Given the description of an element on the screen output the (x, y) to click on. 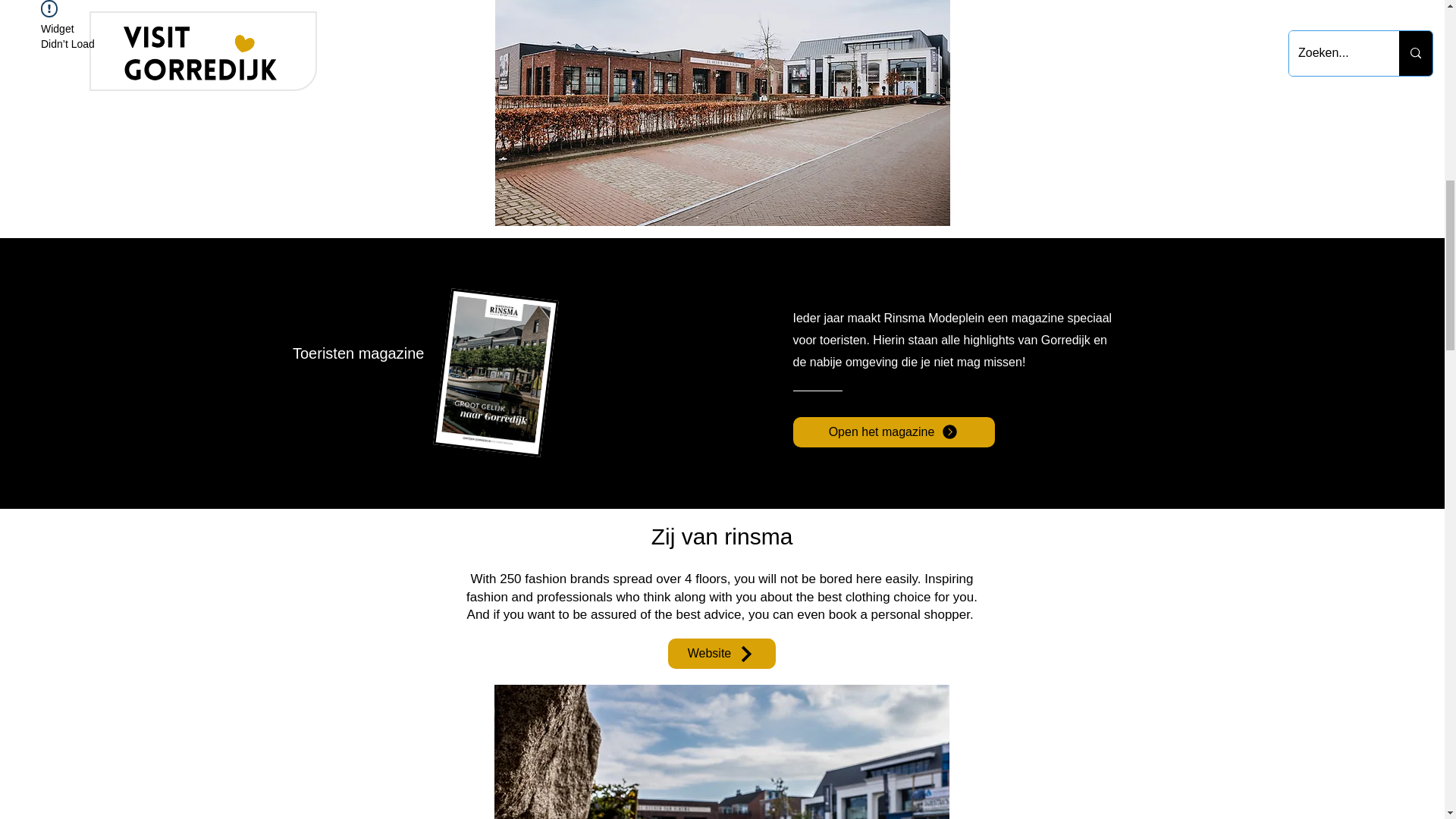
Website (720, 653)
Open het magazine (893, 431)
